Given the description of an element on the screen output the (x, y) to click on. 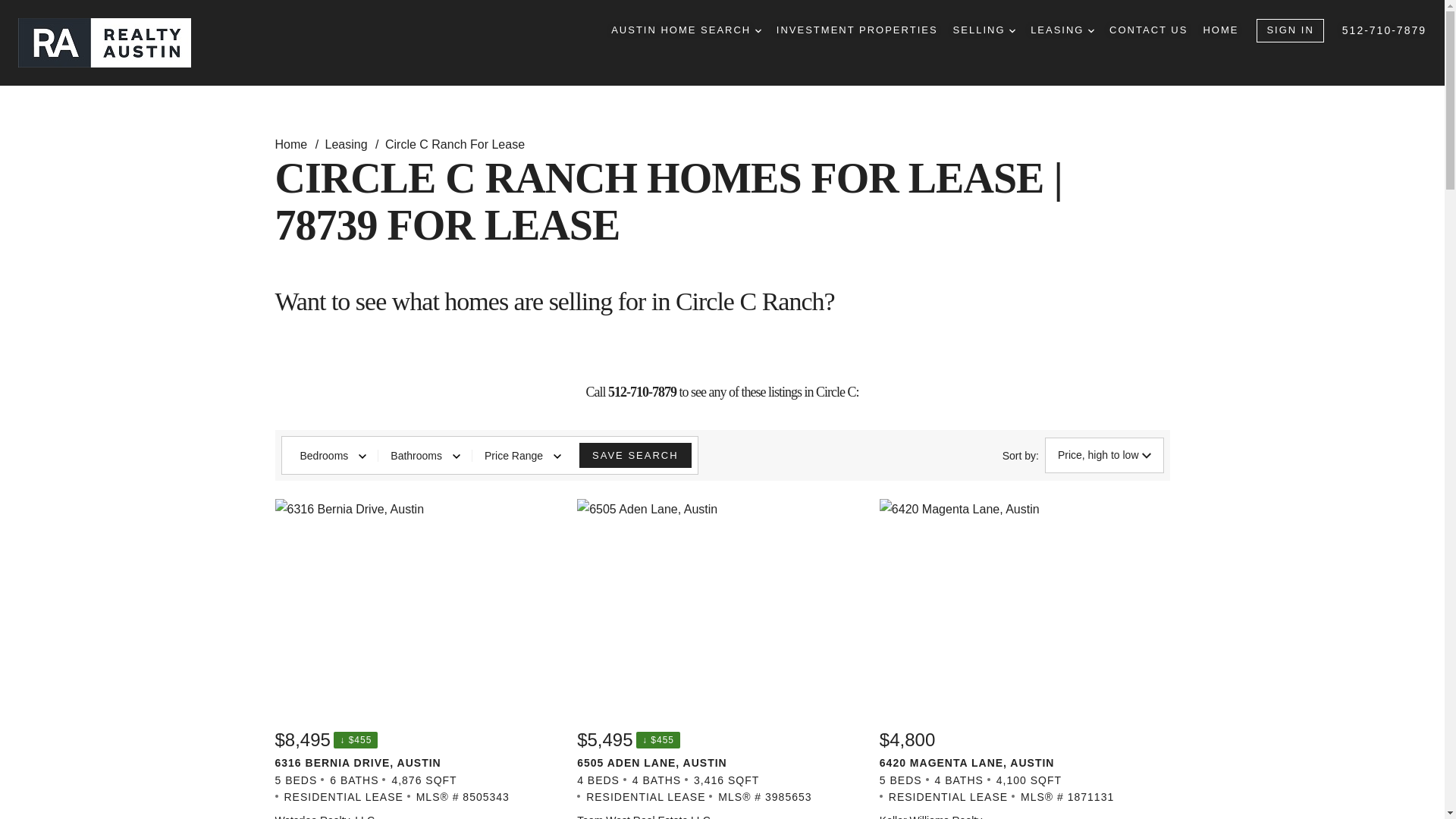
CONTACT US (1148, 30)
INVESTMENT PROPERTIES (856, 30)
SIGN IN (1289, 30)
DROPDOWN ARROW (758, 30)
AUSTIN HOME SEARCH DROPDOWN ARROW (686, 30)
DROPDOWN ARROW (1090, 30)
HOME (1220, 30)
LEASING DROPDOWN ARROW (1062, 30)
DROPDOWN ARROW (1011, 30)
SELLING DROPDOWN ARROW (984, 30)
